Given the description of an element on the screen output the (x, y) to click on. 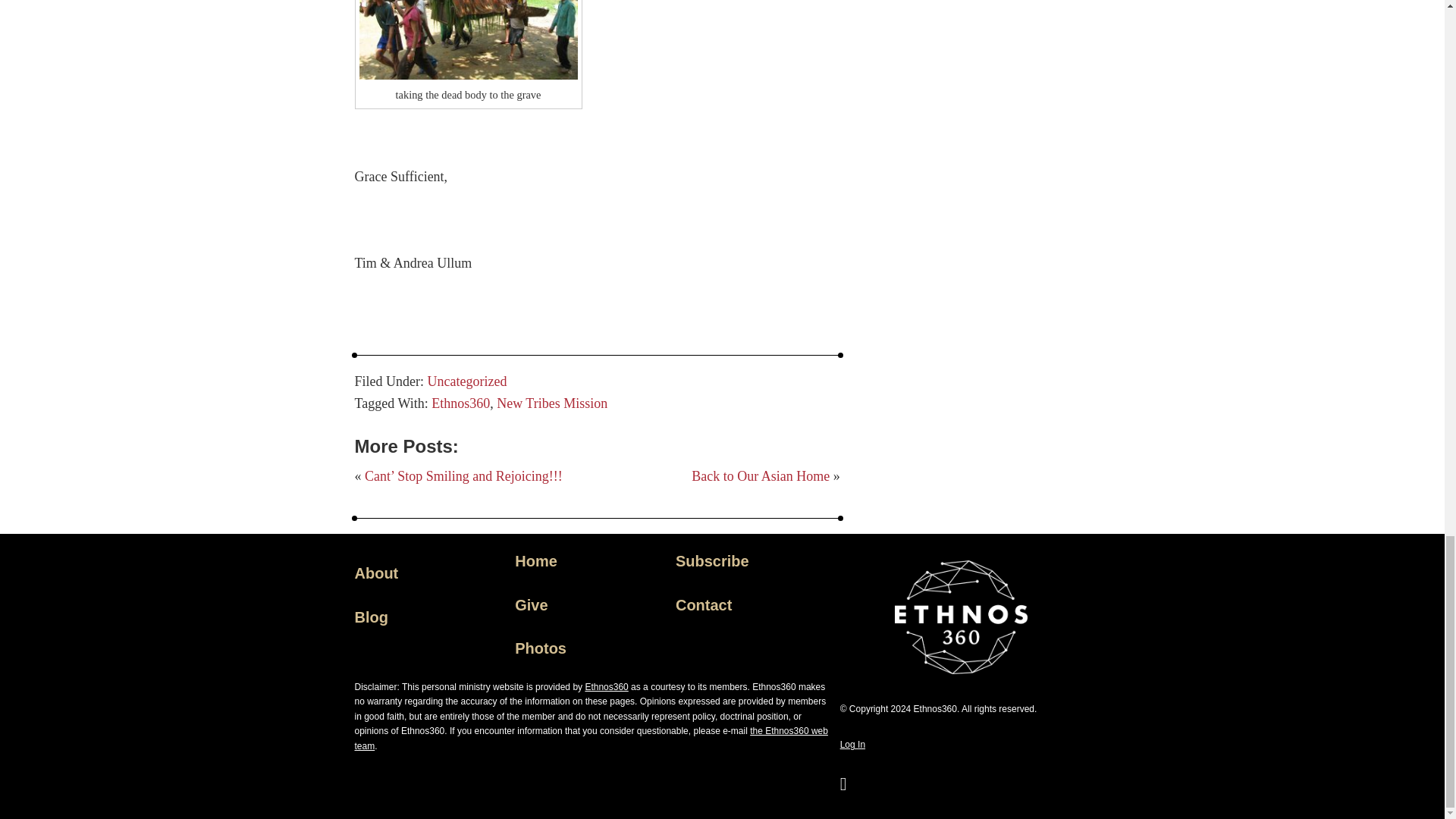
Uncategorized (467, 381)
Photos (540, 647)
Ethnos360 (606, 686)
Ethnos360 (459, 403)
Log In (852, 744)
Ethnos360.org (606, 686)
Subscribe (712, 560)
the Ethnos360 web team (591, 738)
Back to Our Asian Home (760, 476)
Home (536, 560)
About (376, 573)
Give (531, 605)
Contact (703, 605)
Blog (371, 617)
New Tribes Mission (551, 403)
